Given the description of an element on the screen output the (x, y) to click on. 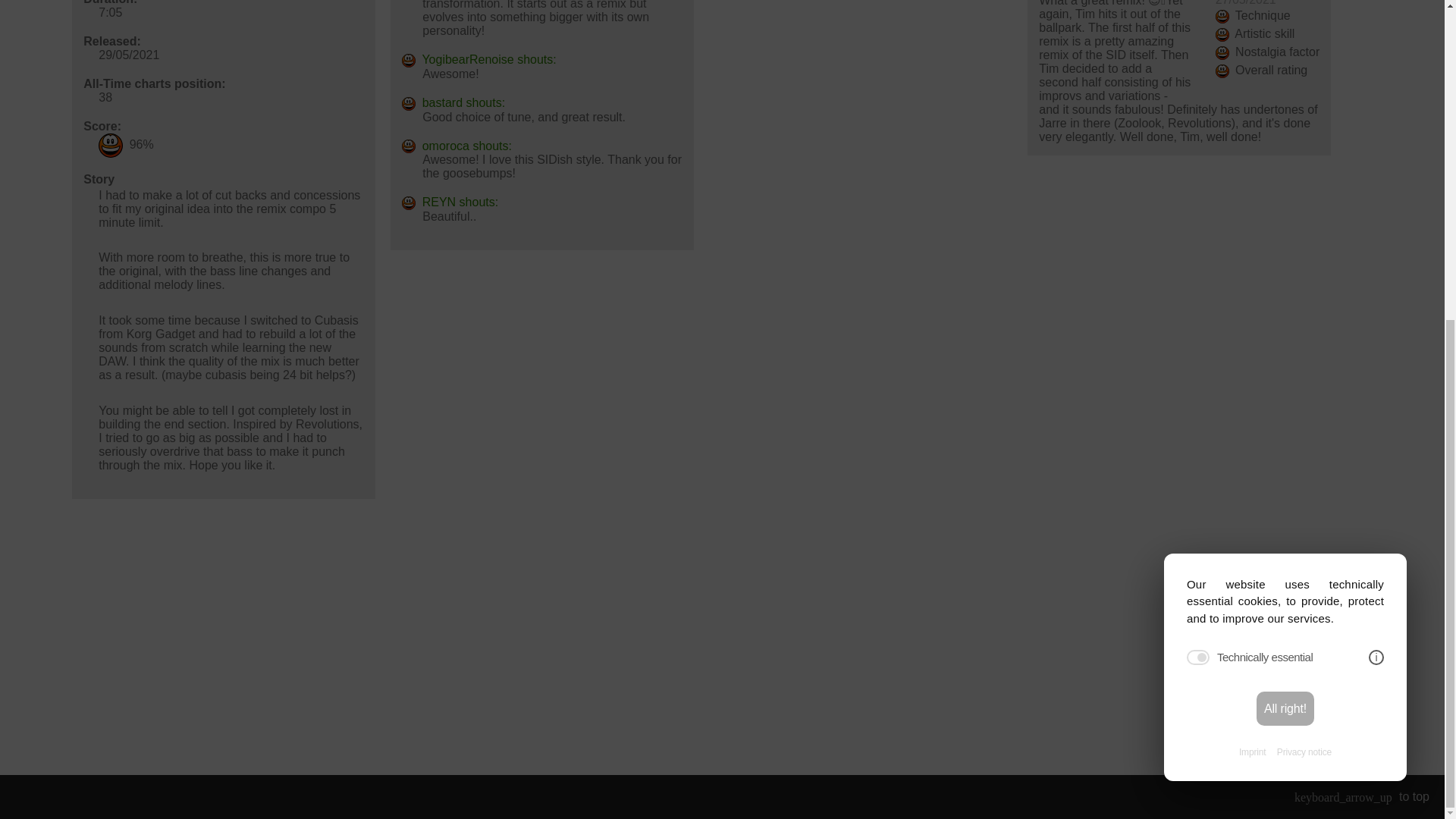
on (1197, 138)
Imprint (1252, 233)
Privacy notice (1304, 233)
